Given the description of an element on the screen output the (x, y) to click on. 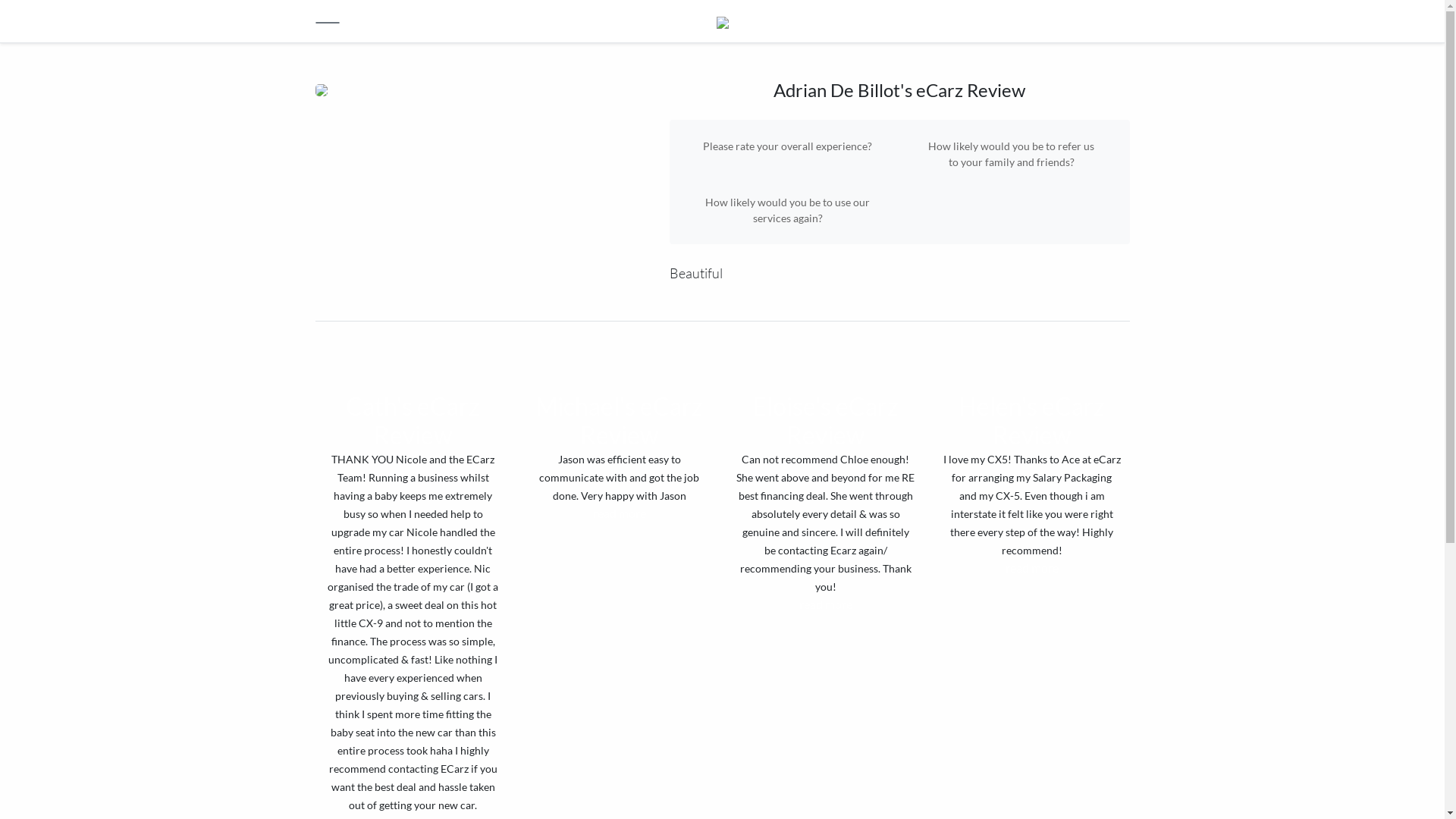
Cath's eCarz Review Element type: text (412, 420)
Michael's eCarz Review Element type: text (618, 420)
5.0 of 5 Element type: hover (1031, 366)
5.0 of 5 Element type: hover (618, 366)
read more Element type: text (1031, 567)
Eloise's eCarz Review Element type: text (825, 420)
read more Element type: text (619, 512)
5.0 of 5 Element type: hover (825, 366)
Helen's eCarz Review Element type: text (1031, 420)
read more Element type: text (825, 603)
5.0 of 5 Element type: hover (412, 366)
